Given the description of an element on the screen output the (x, y) to click on. 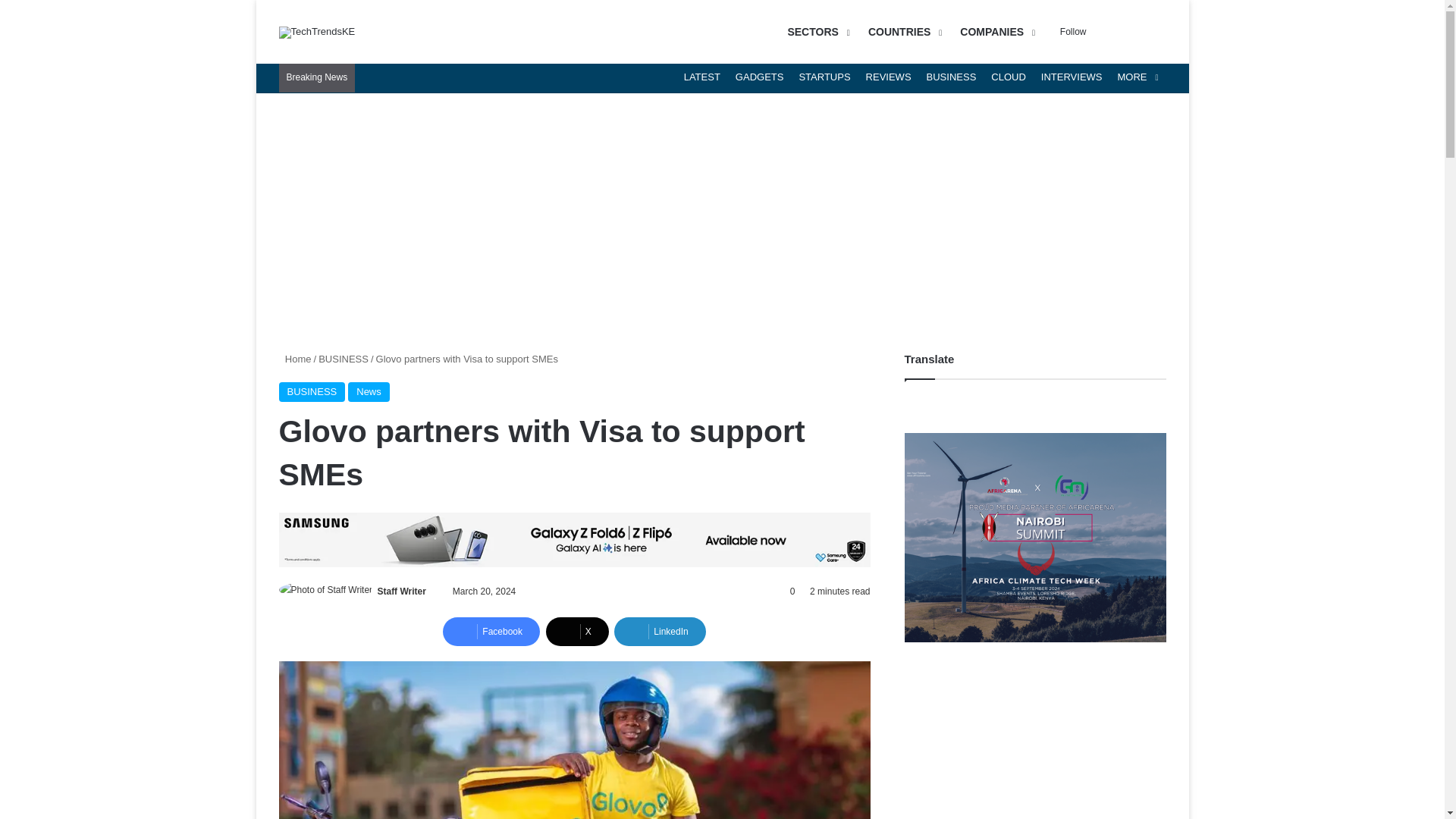
LinkedIn (659, 631)
COUNTRIES (903, 31)
TechTrendsKE (317, 31)
Staff Writer (401, 591)
X (577, 631)
Facebook (491, 631)
COMPANIES (995, 31)
SECTORS (816, 31)
